Given the description of an element on the screen output the (x, y) to click on. 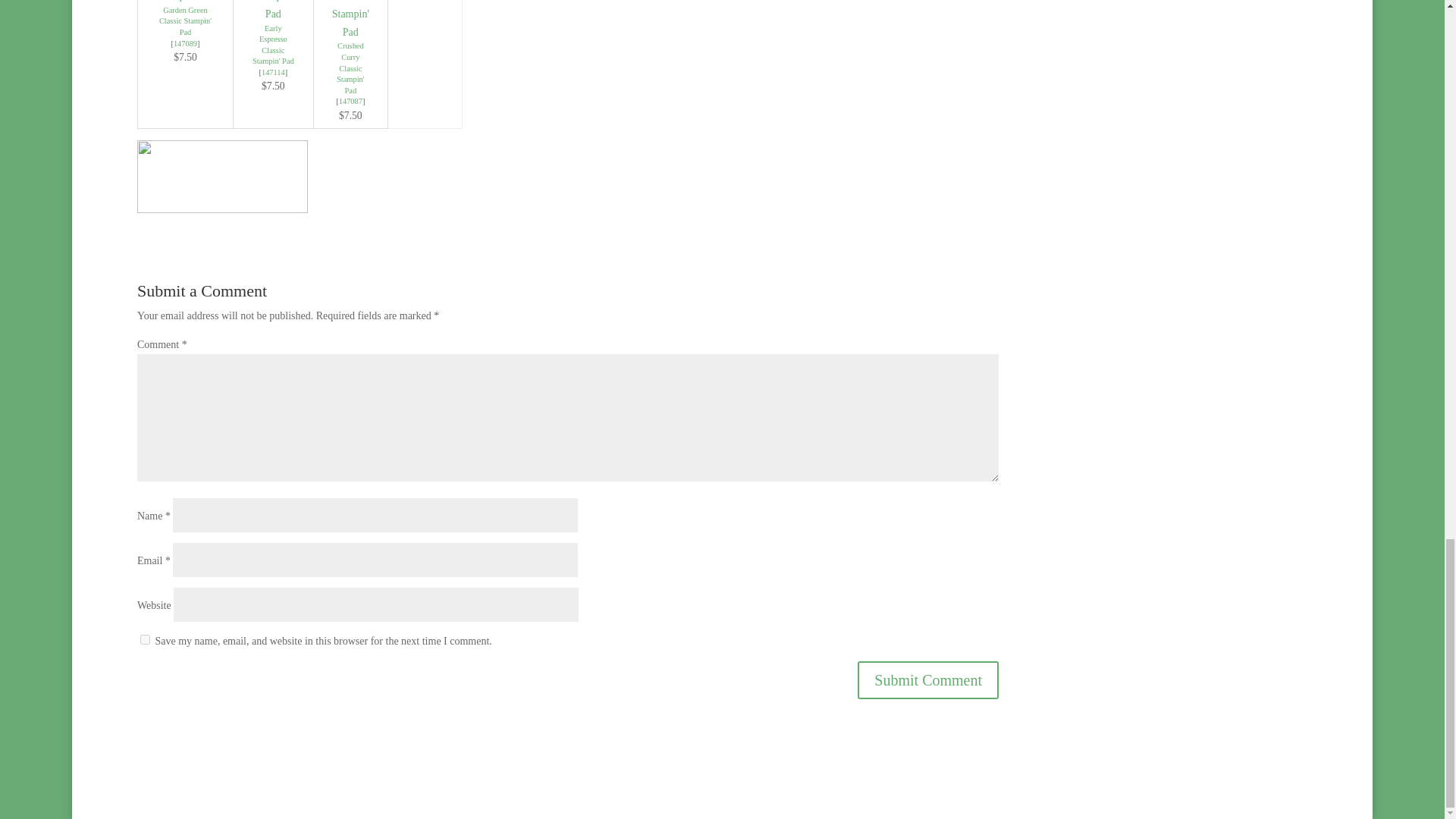
Submit Comment (927, 679)
yes (144, 639)
